Given the description of an element on the screen output the (x, y) to click on. 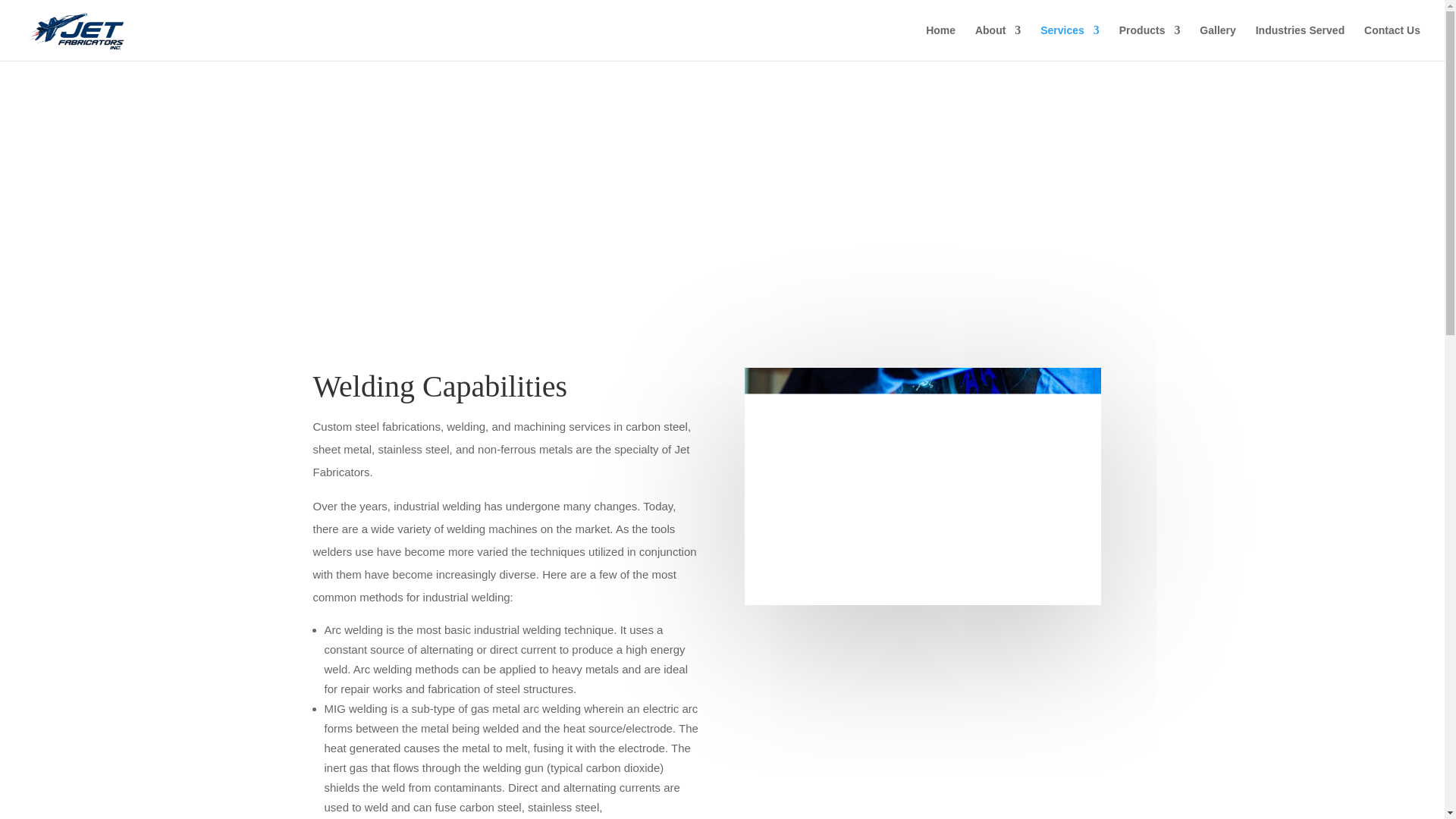
Services (1070, 42)
Products (1149, 42)
Contact Us (1392, 42)
About (997, 42)
Gallery (1216, 42)
Industries Served (1300, 42)
